Given the description of an element on the screen output the (x, y) to click on. 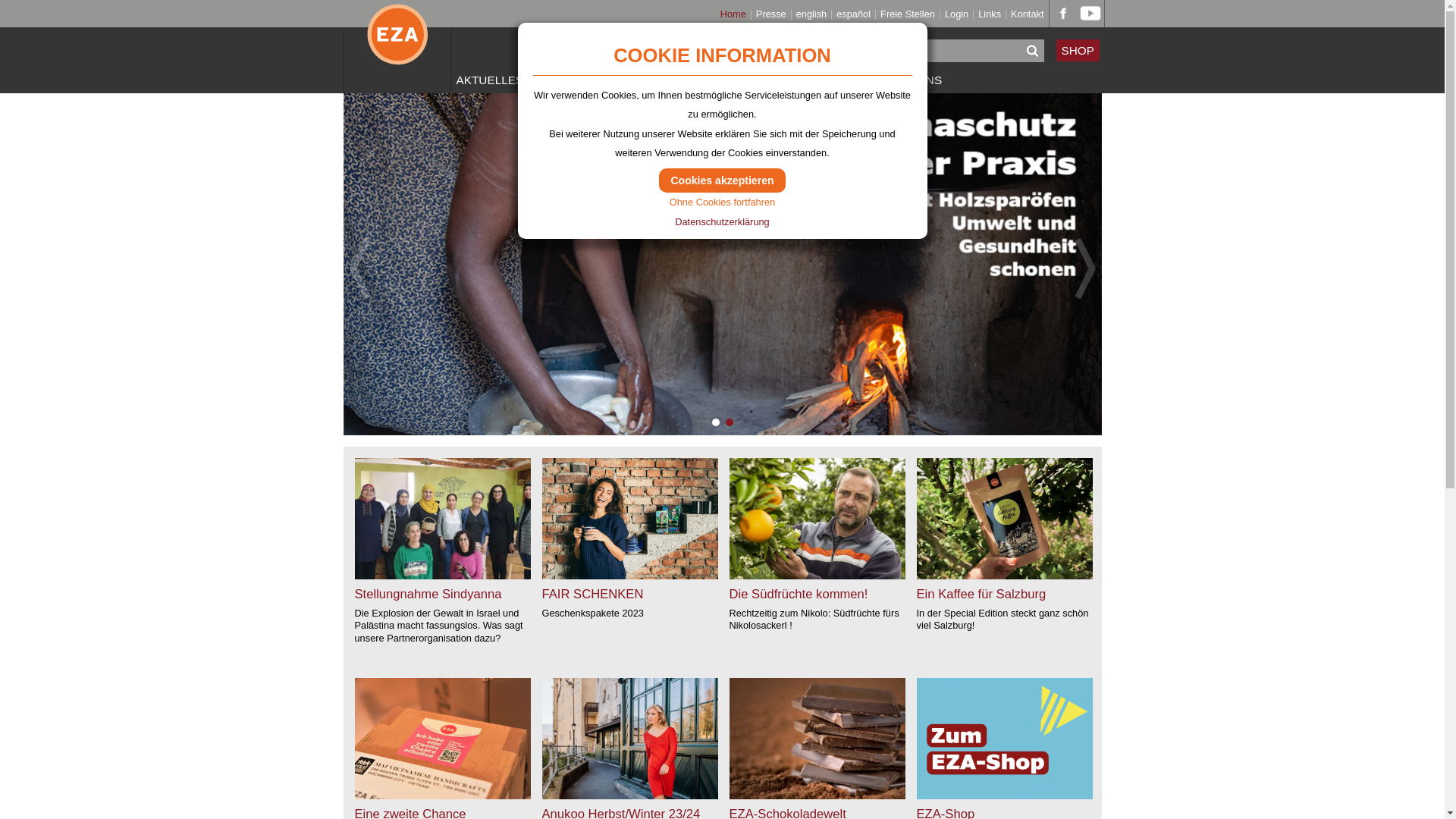
Ohne Cookies fortfahren Element type: text (722, 201)
8march2020-in-sindyanna_3 Element type: hover (442, 518)
EZA bei YouTube Element type: hover (1090, 12)
Home Element type: text (733, 14)
vorschaubox Element type: hover (442, 738)
202307-vb-salzburg-kaffee-04 Element type: hover (1004, 518)
2 Element type: text (728, 422)
SHOP Element type: text (1077, 50)
weiter Element type: text (354, 556)
UNSERE PRODUKTE Element type: text (591, 79)
EZA bei facebook Element type: hover (1062, 12)
suche Element type: hover (1031, 50)
Presse Element type: text (771, 14)
202209_vb-eza-shop Element type: hover (1004, 738)
weiter Element type: text (729, 556)
eza Element type: hover (817, 518)
english Element type: text (811, 14)
AKTUELLES Element type: text (489, 79)
kaffee_bild-eza-karin-hackl-6 Element type: hover (629, 518)
Cookies akzeptieren Element type: text (721, 180)
Previous Element type: text (360, 268)
PRODUZENTINNEN Element type: text (715, 79)
Links Element type: text (989, 14)
1 Element type: text (714, 422)
Freie Stellen Element type: text (907, 14)
weiter Element type: text (541, 556)
anukoo_hw-23_24_02 Element type: hover (629, 738)
Login Element type: text (956, 14)
Next Element type: text (1083, 268)
weiter Element type: text (916, 556)
Kontakt Element type: text (1026, 14)
Home Element type: hover (396, 46)
